Given the description of an element on the screen output the (x, y) to click on. 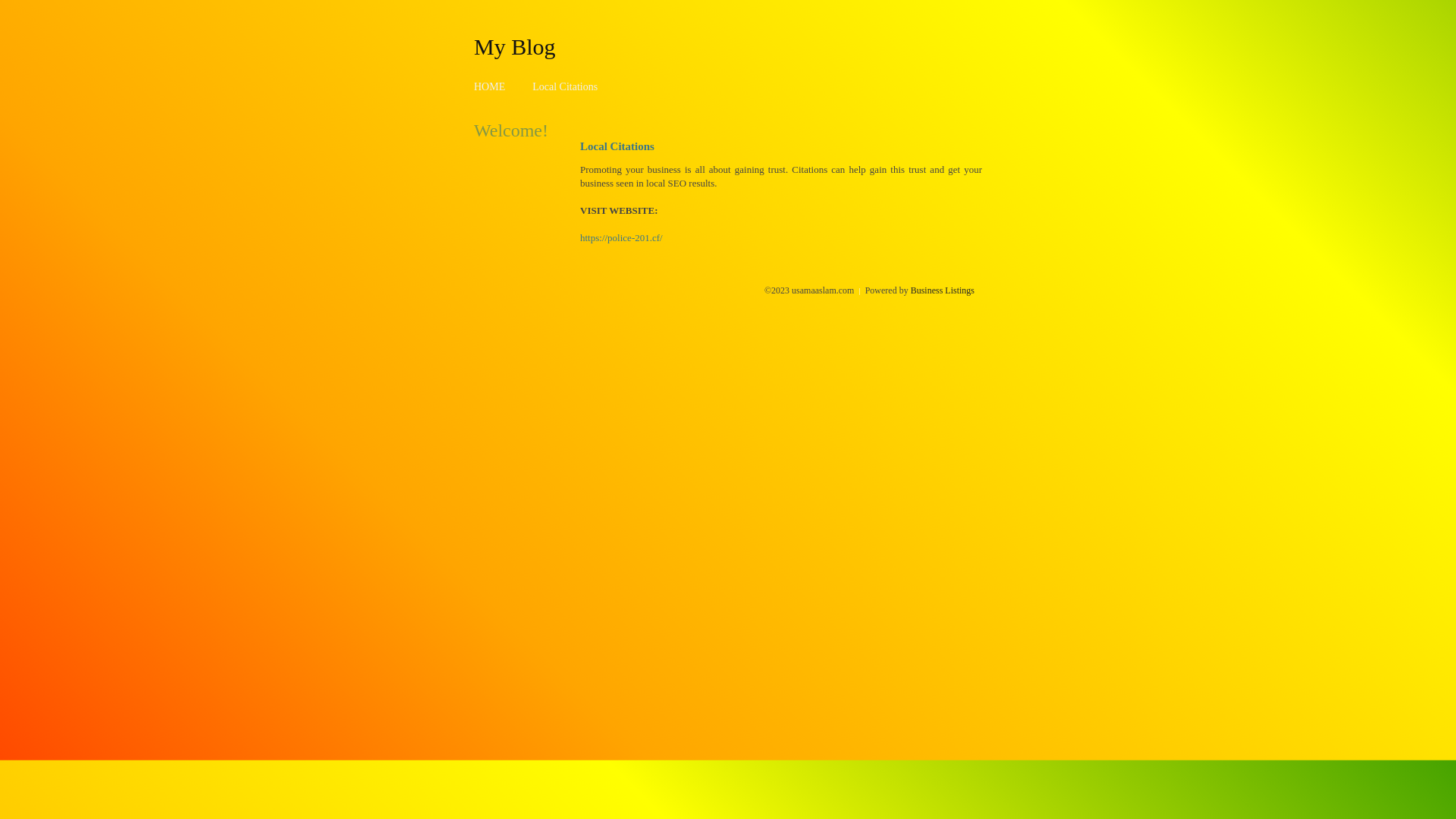
HOME Element type: text (489, 86)
Business Listings Element type: text (942, 290)
https://police-201.cf/ Element type: text (621, 237)
Local Citations Element type: text (564, 86)
My Blog Element type: text (514, 46)
